Given the description of an element on the screen output the (x, y) to click on. 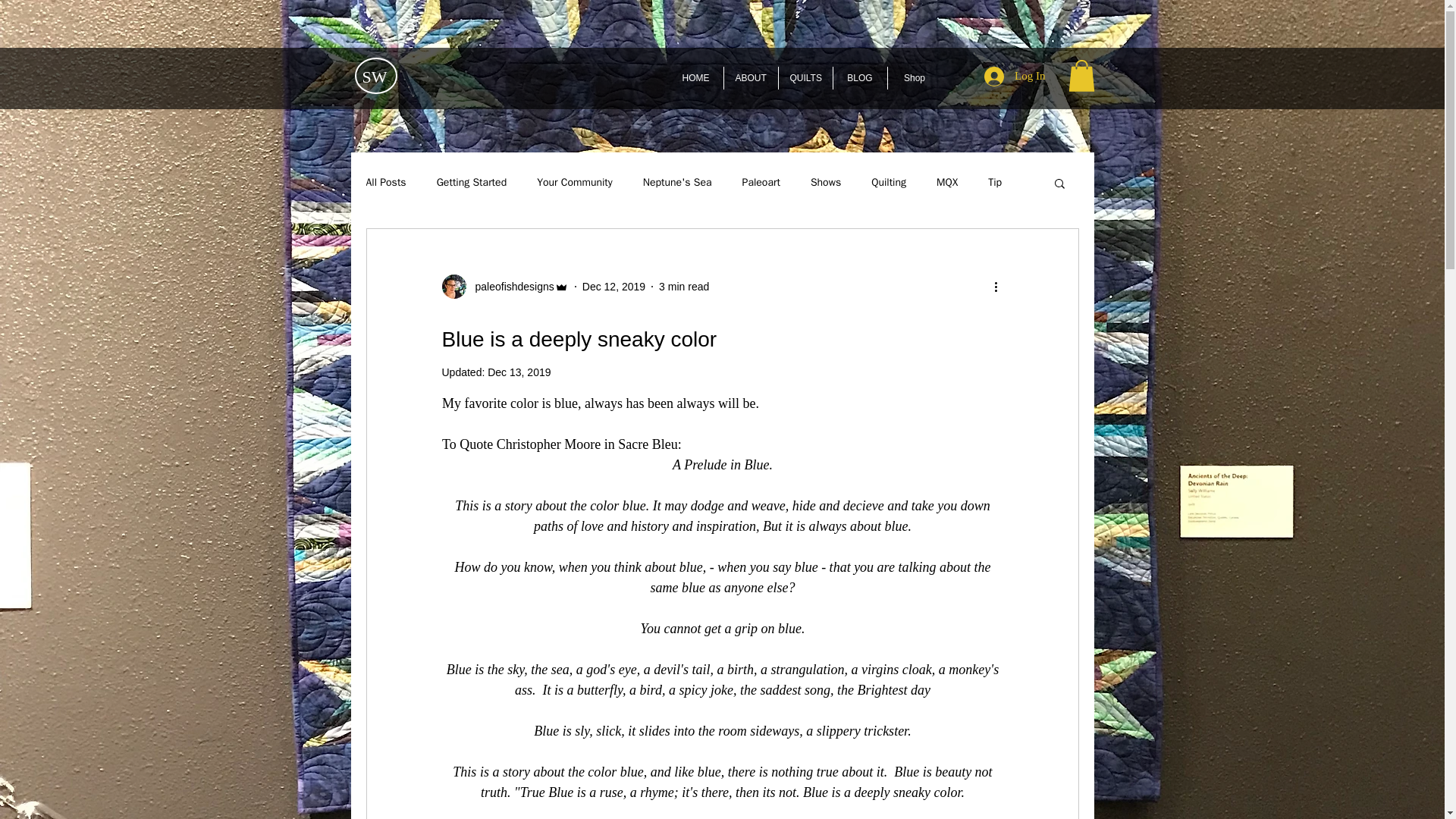
BLOG (859, 77)
ABOUT (750, 77)
Quilting (887, 182)
All Posts (385, 182)
Dec 13, 2019 (518, 372)
Neptune's Sea (677, 182)
Paleoart (761, 182)
QUILTS (804, 77)
HOME (695, 77)
Dec 12, 2019 (613, 286)
Getting Started (471, 182)
Log In (1014, 76)
Shop (913, 77)
Shows (825, 182)
paleofishdesigns (509, 286)
